Given the description of an element on the screen output the (x, y) to click on. 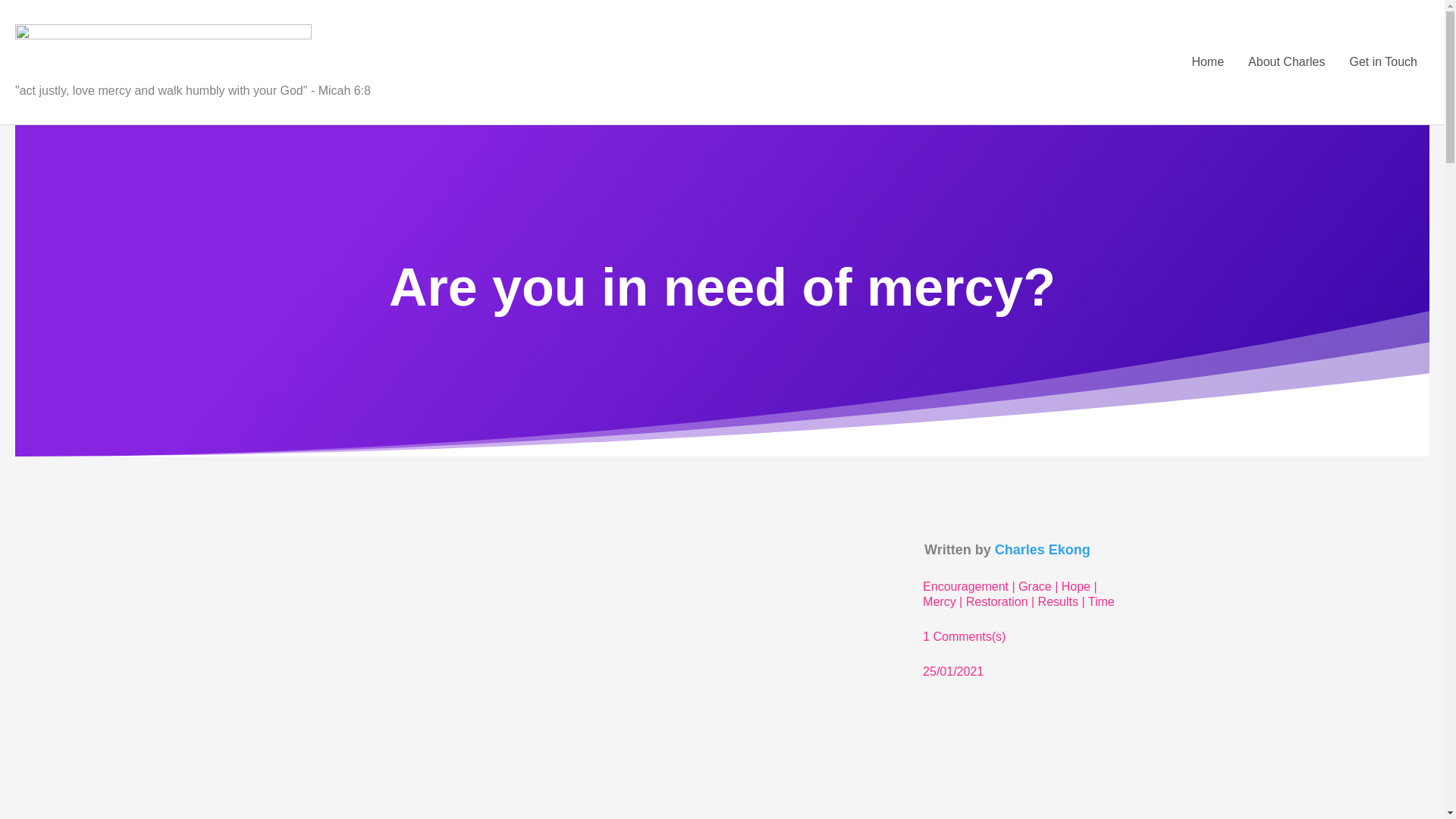
Mercy (939, 605)
Results (1058, 605)
Charles Ekong (1042, 553)
Time (1101, 605)
Grace (1034, 589)
Home (1207, 61)
Encouragement (966, 589)
Restoration (996, 605)
Get in Touch (1382, 61)
About Charles (1286, 61)
Hope (1075, 589)
